Given the description of an element on the screen output the (x, y) to click on. 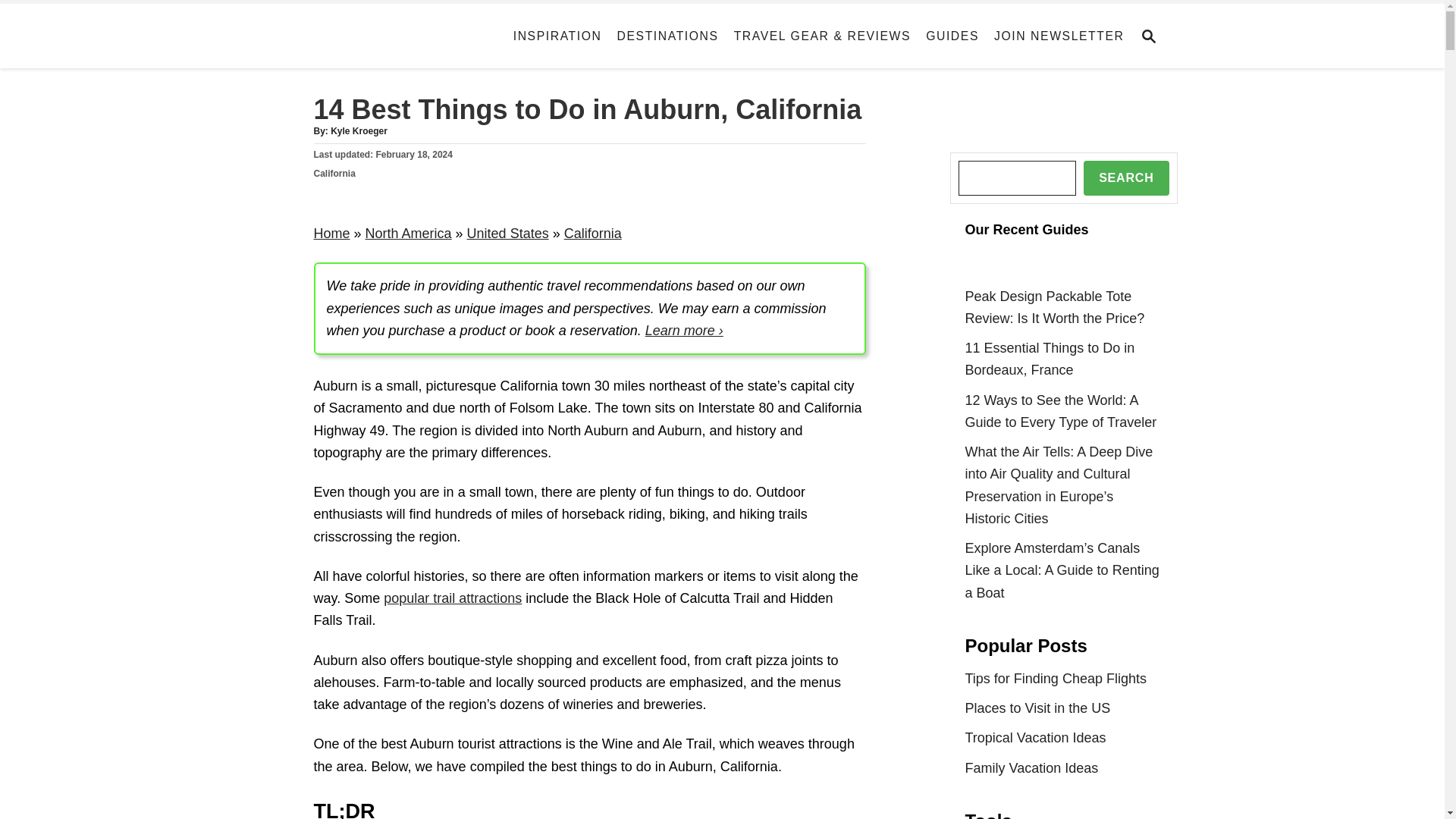
DESTINATIONS (668, 36)
SEARCH (1153, 36)
INSPIRATION (557, 36)
ViaTravelers (382, 35)
